Given the description of an element on the screen output the (x, y) to click on. 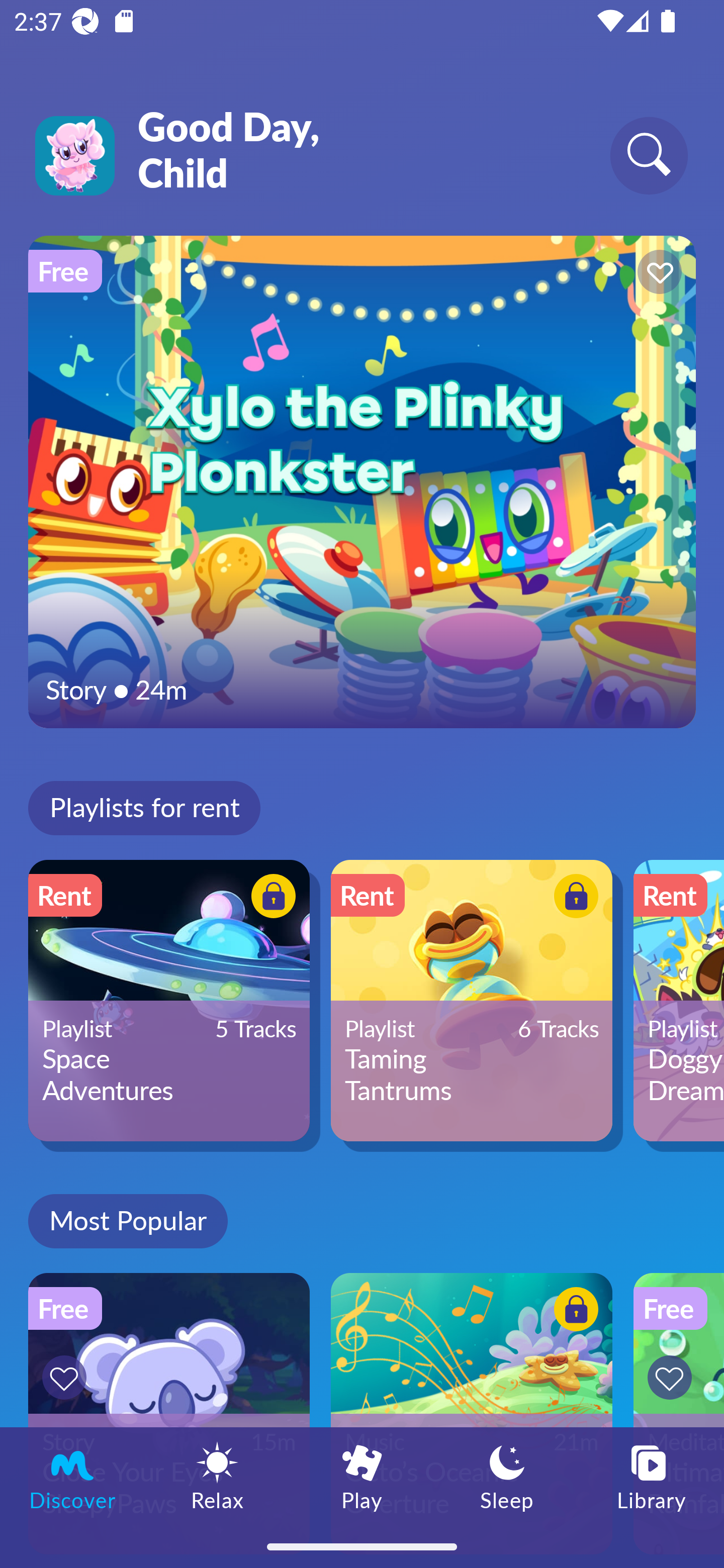
Search (648, 154)
Featured Content Free Button Story ● 24m (361, 481)
Button (656, 274)
Button (269, 898)
Button (573, 898)
Button (573, 1312)
Button (67, 1377)
Button (672, 1377)
Relax (216, 1475)
Play (361, 1475)
Sleep (506, 1475)
Library (651, 1475)
